Given the description of an element on the screen output the (x, y) to click on. 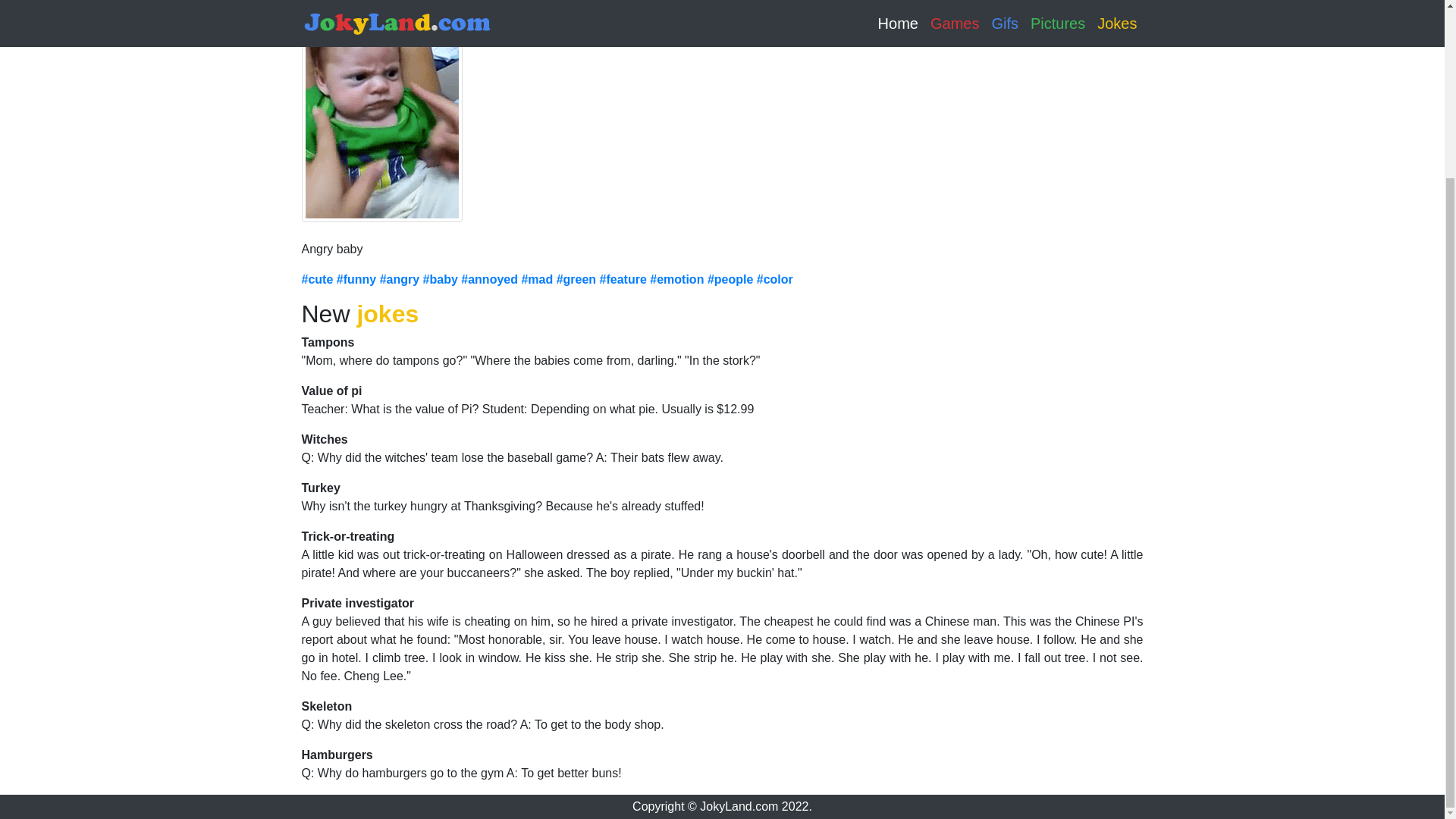
jokes (387, 313)
